Given the description of an element on the screen output the (x, y) to click on. 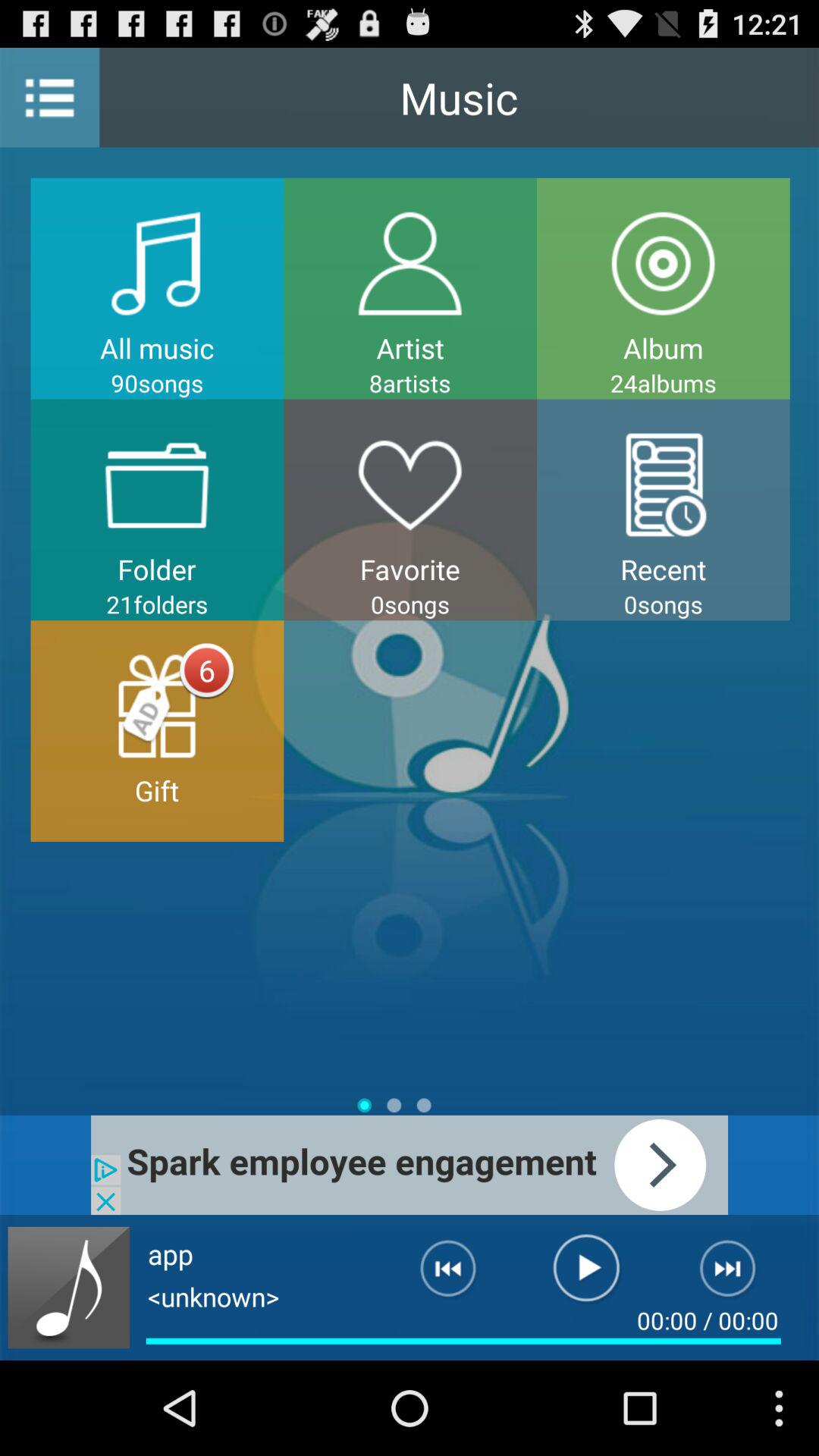
check this option (409, 1164)
